Given the description of an element on the screen output the (x, y) to click on. 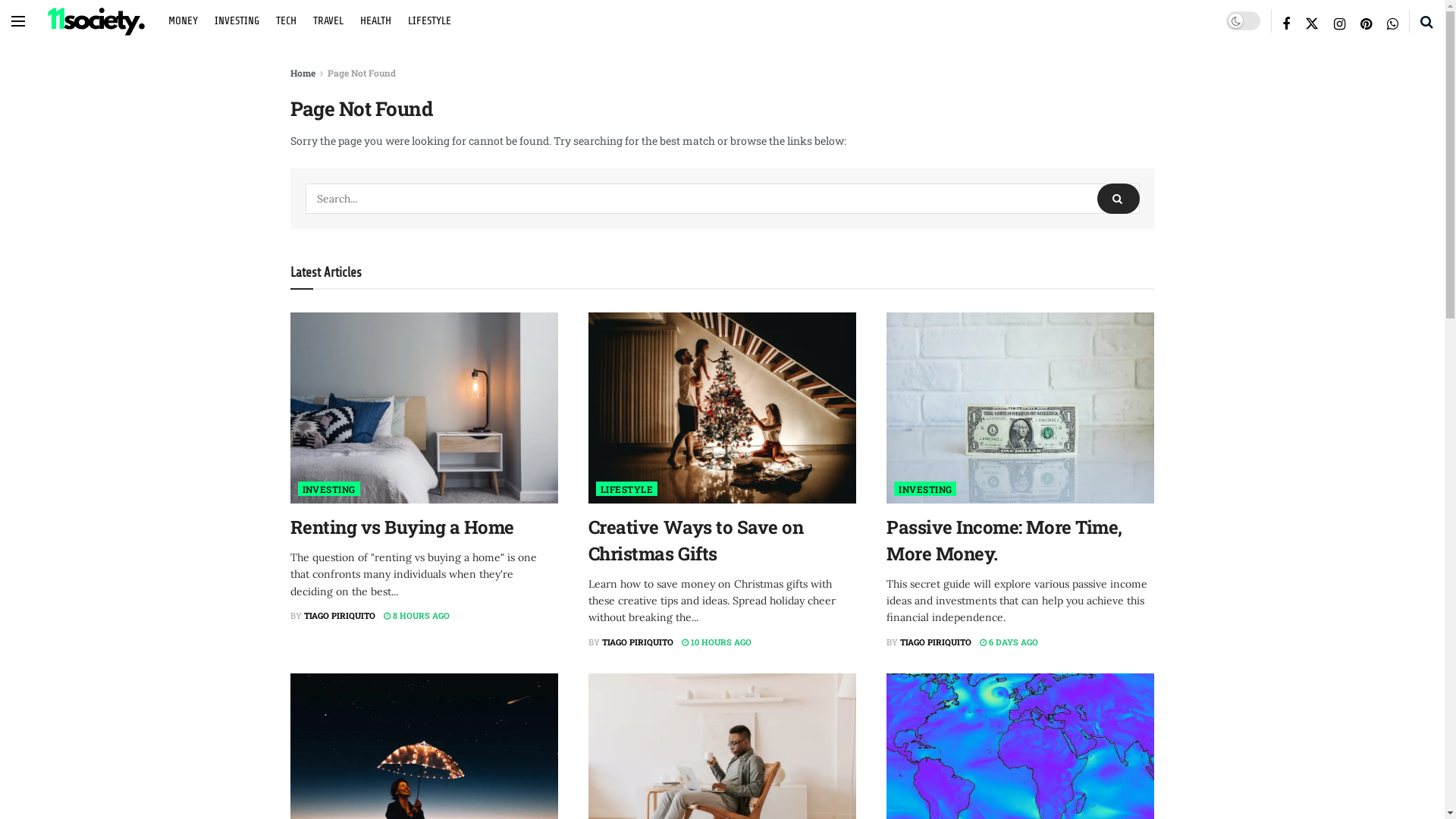
TRAVEL Element type: text (328, 20)
INVESTING Element type: text (925, 488)
Creative Ways to Save on Christmas Gifts Element type: text (695, 539)
10 HOURS AGO Element type: text (716, 641)
MONEY Element type: text (182, 20)
INVESTING Element type: text (328, 488)
LIFESTYLE Element type: text (429, 20)
TECH Element type: text (286, 20)
6 DAYS AGO Element type: text (1008, 641)
HEALTH Element type: text (375, 20)
Renting vs Buying a Home Element type: text (401, 526)
TIAGO PIRIQUITO Element type: text (935, 641)
LIFESTYLE Element type: text (626, 488)
Home Element type: text (301, 72)
Passive Income: More Time, More Money. Element type: text (1004, 539)
TIAGO PIRIQUITO Element type: text (338, 615)
Page Not Found Element type: text (361, 72)
8 HOURS AGO Element type: text (416, 615)
INVESTING Element type: text (236, 20)
TIAGO PIRIQUITO Element type: text (637, 641)
